Given the description of an element on the screen output the (x, y) to click on. 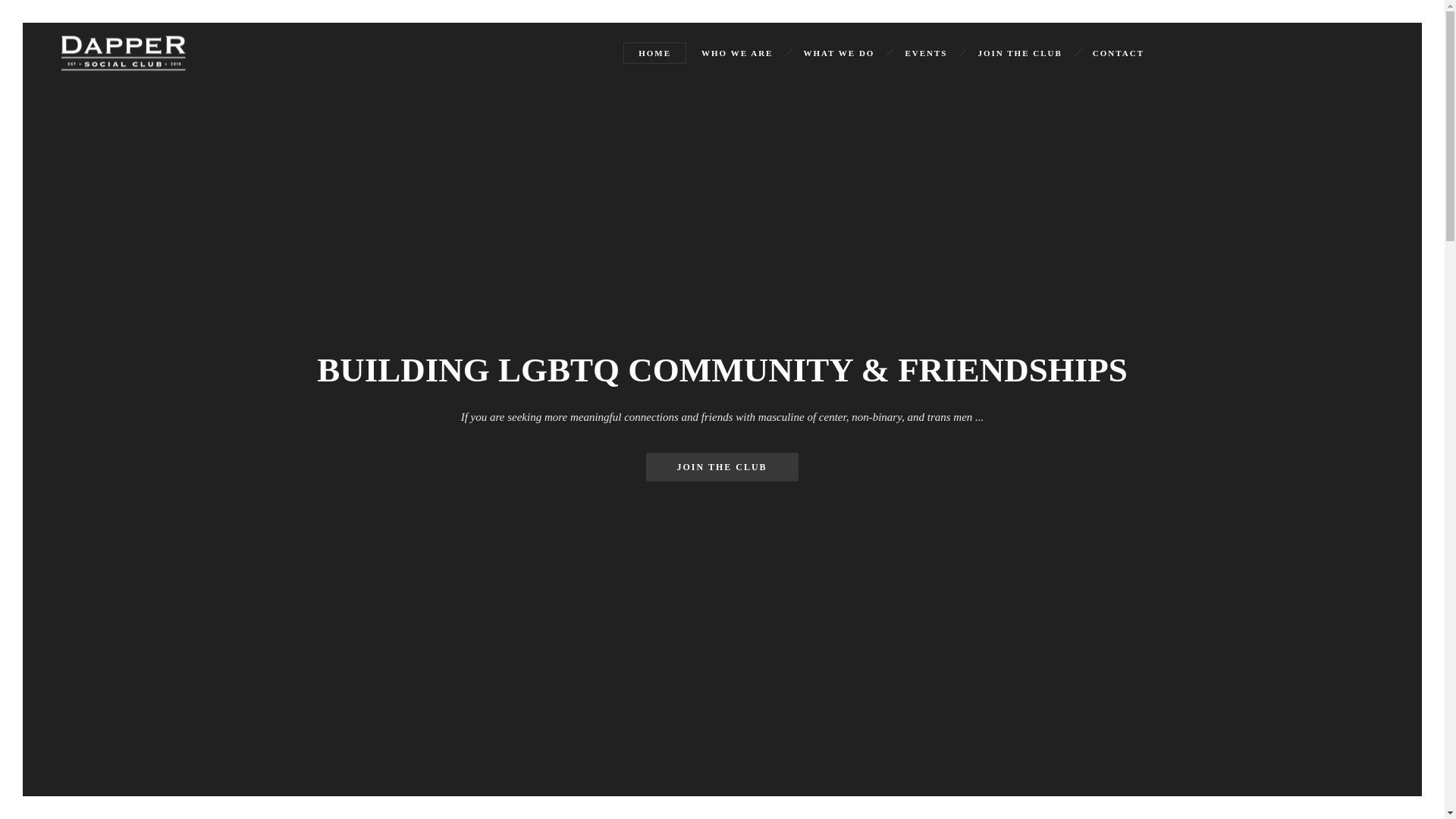
WHO WE ARE (736, 52)
JOIN THE CLUB (1019, 52)
HOME (654, 52)
WHAT WE DO (838, 52)
EVENTS (925, 52)
CONTACT (1117, 52)
